Given the description of an element on the screen output the (x, y) to click on. 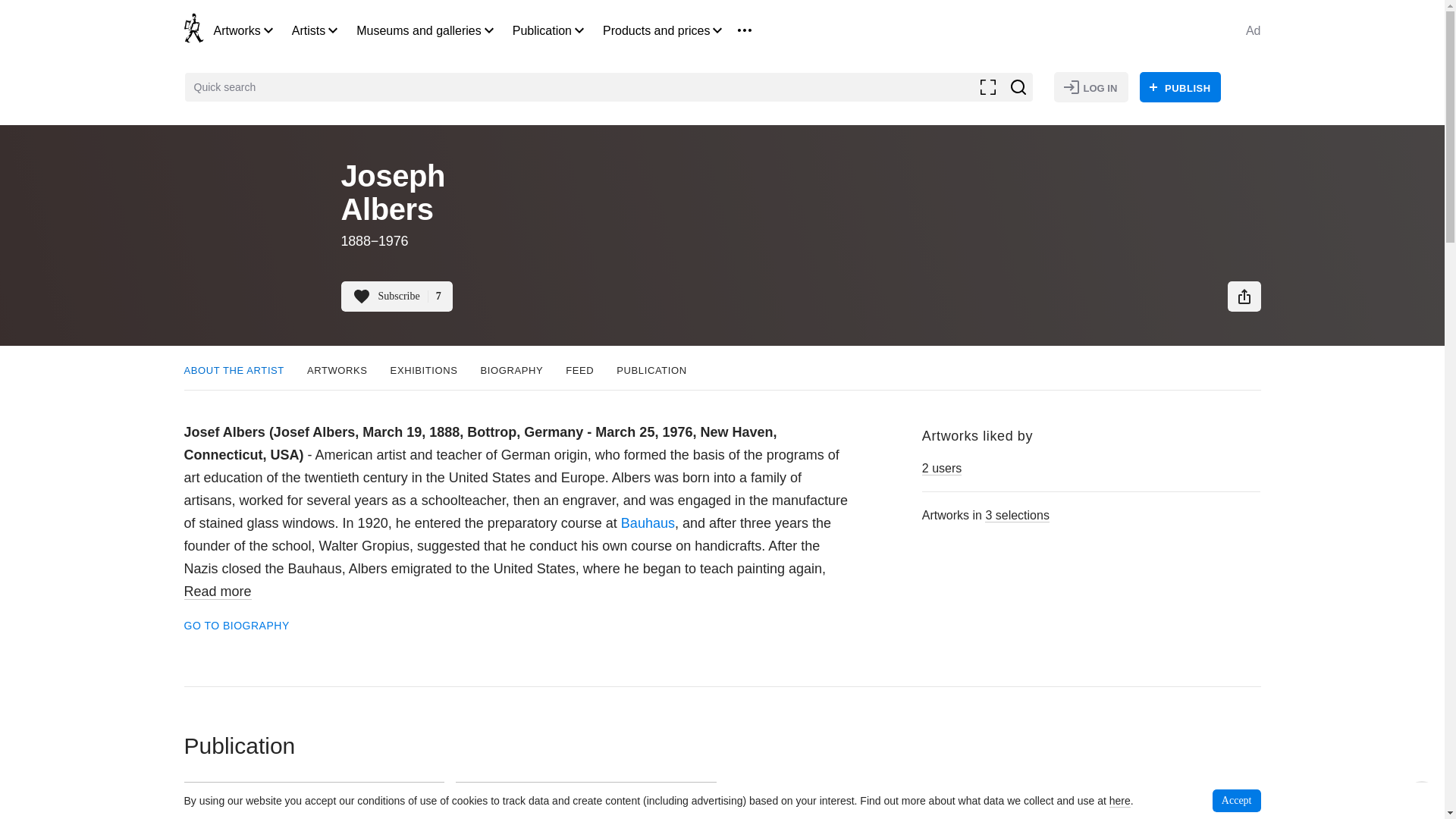
Publication (542, 30)
Accept (1236, 800)
here (1120, 800)
Museums and galleries (418, 30)
Artists (308, 30)
Subscribe (396, 296)
Artworks (237, 30)
